Given the description of an element on the screen output the (x, y) to click on. 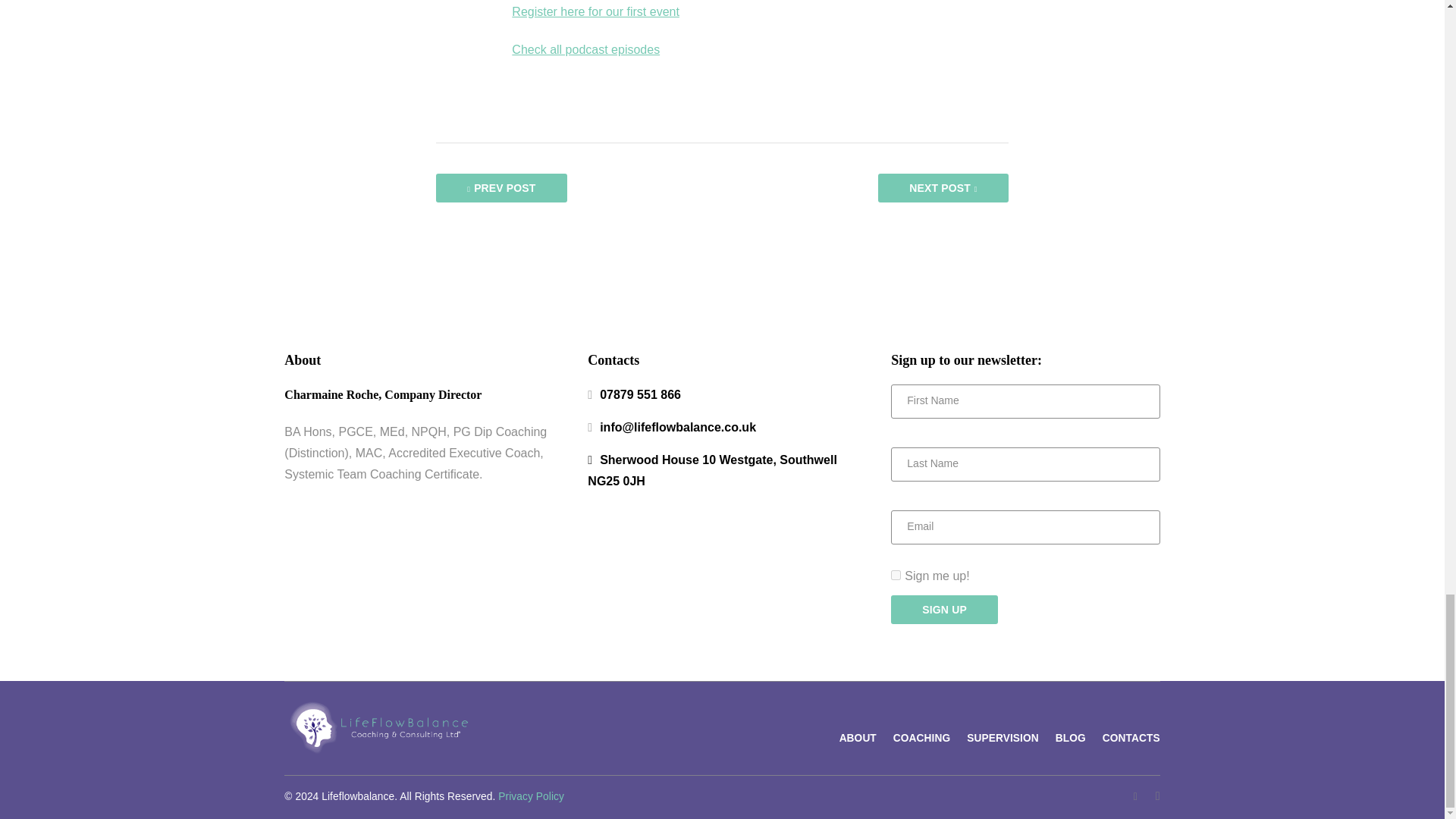
SUPERVISION (1002, 737)
ABOUT (858, 737)
Privacy Policy (530, 796)
COACHING (921, 737)
Check all podcast episodes (585, 49)
PREV POST (500, 187)
NEXT POST (942, 187)
SIGN UP (944, 609)
SIGN UP (944, 609)
07879 551 866 (640, 394)
1 (896, 574)
BLOG (1070, 737)
Register here for our first event (595, 11)
CONTACTS (1131, 737)
